Given the description of an element on the screen output the (x, y) to click on. 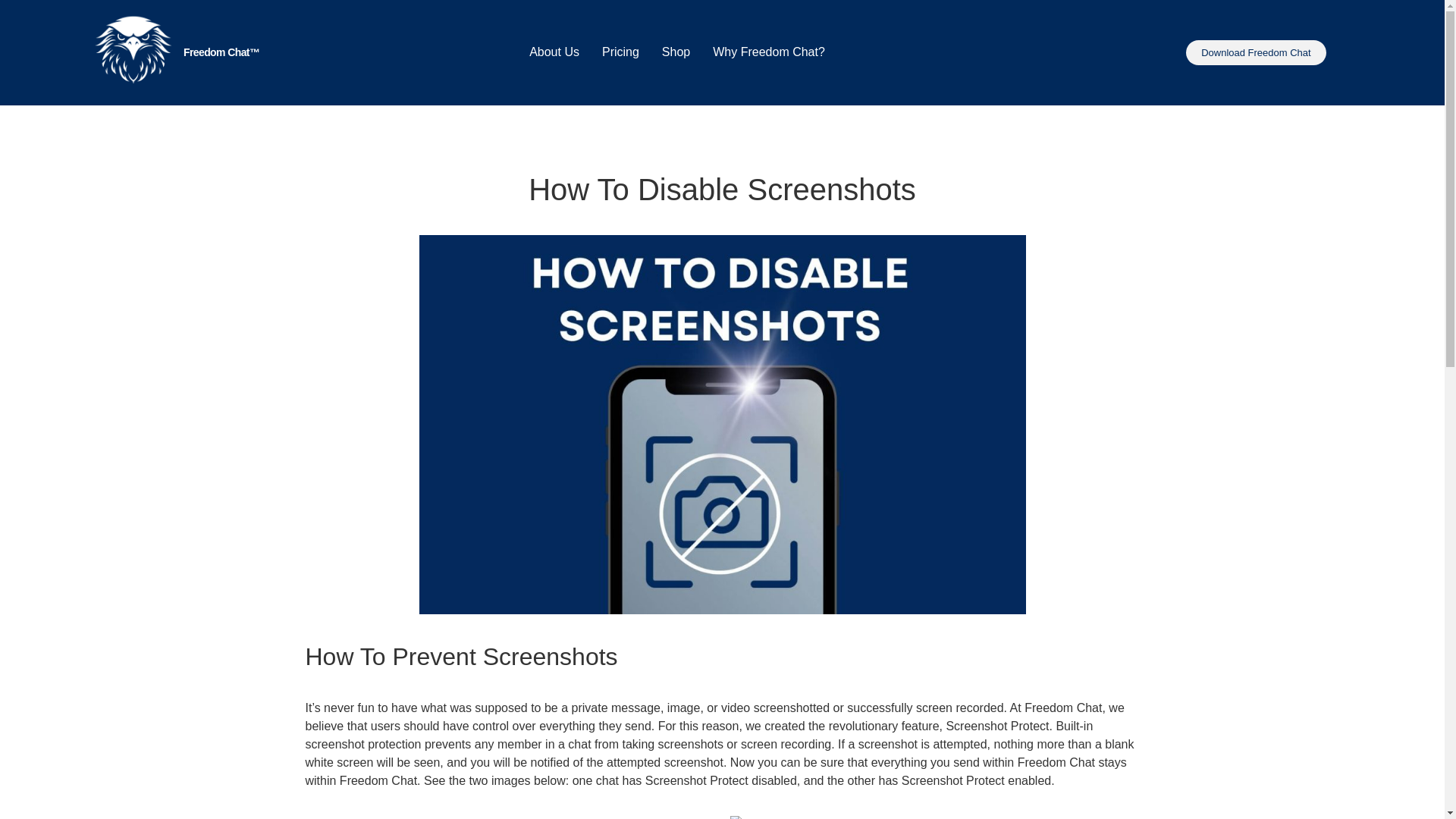
Download Freedom Chat (1256, 52)
Shop (675, 52)
Why Freedom Chat? (772, 52)
Pricing (620, 52)
About Us (554, 52)
